Given the description of an element on the screen output the (x, y) to click on. 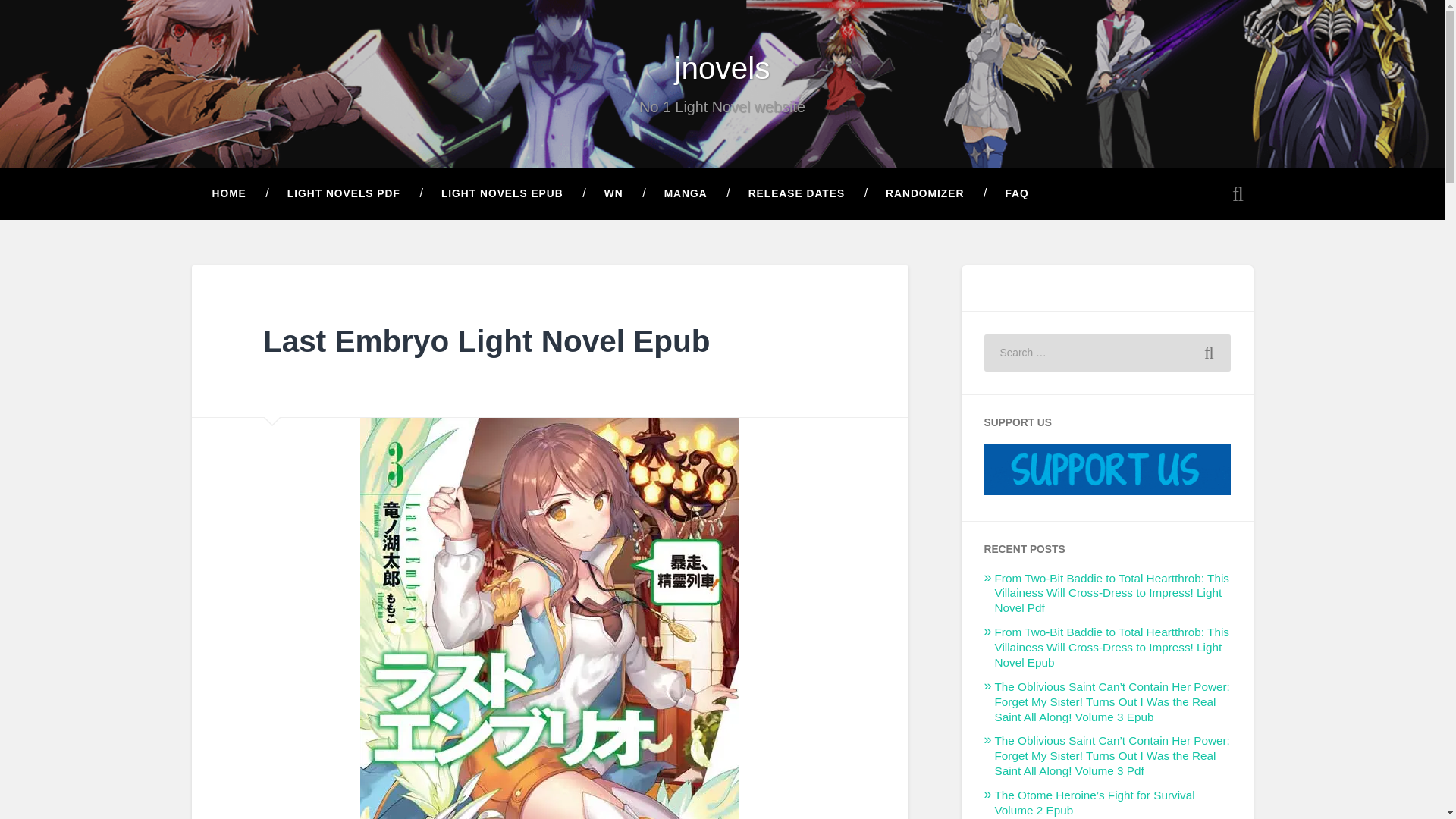
FAQ (1016, 194)
LIGHT NOVELS EPUB (501, 194)
HOME (228, 194)
Search (1209, 352)
RANDOMIZER (924, 194)
LIGHT NOVELS PDF (343, 194)
Last Embryo Light Novel Epub (486, 340)
RELEASE DATES (796, 194)
Search (1209, 352)
WN (613, 194)
jnovels (722, 67)
MANGA (685, 194)
